Given the description of an element on the screen output the (x, y) to click on. 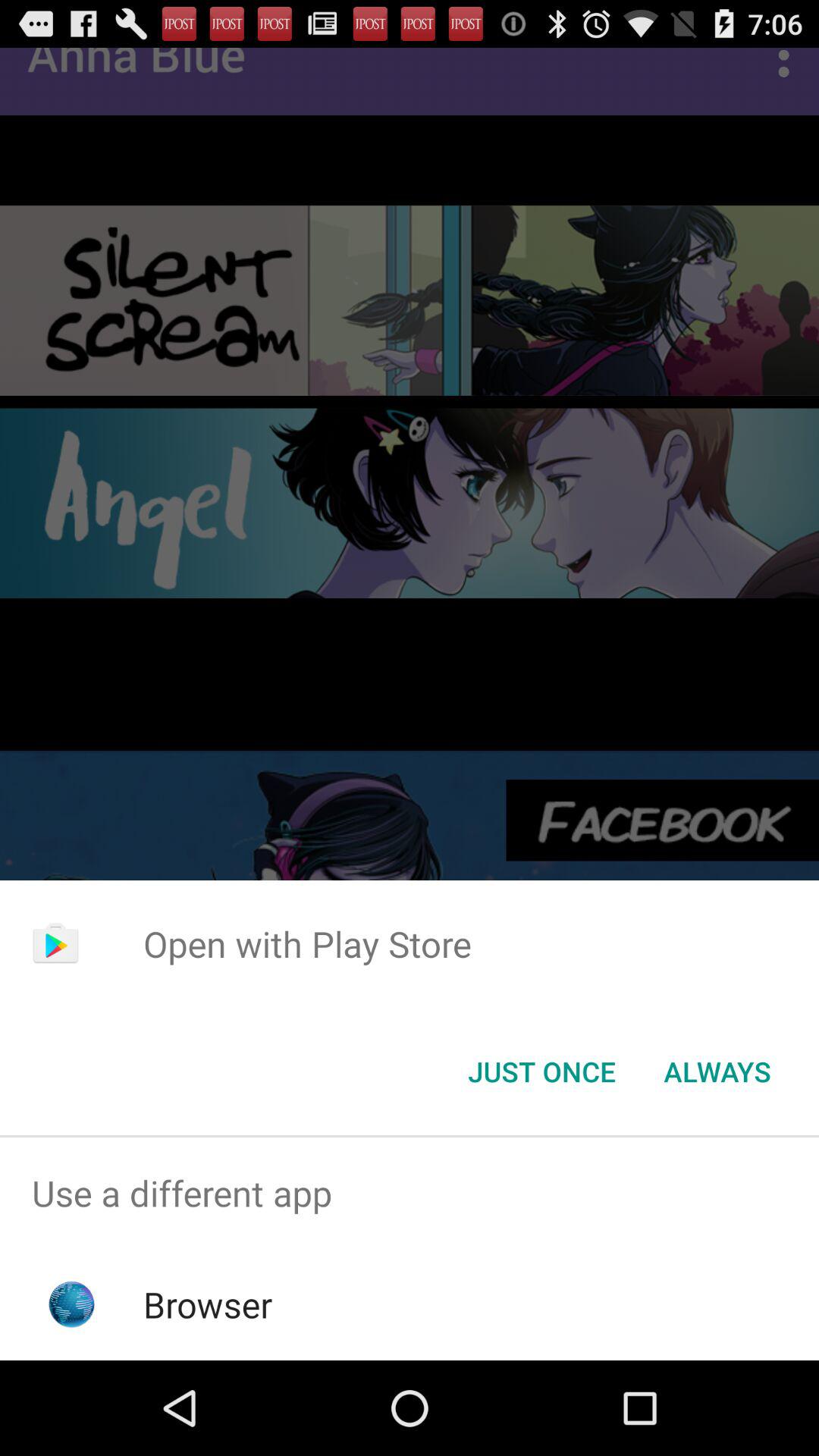
click the button at the bottom right corner (717, 1071)
